Given the description of an element on the screen output the (x, y) to click on. 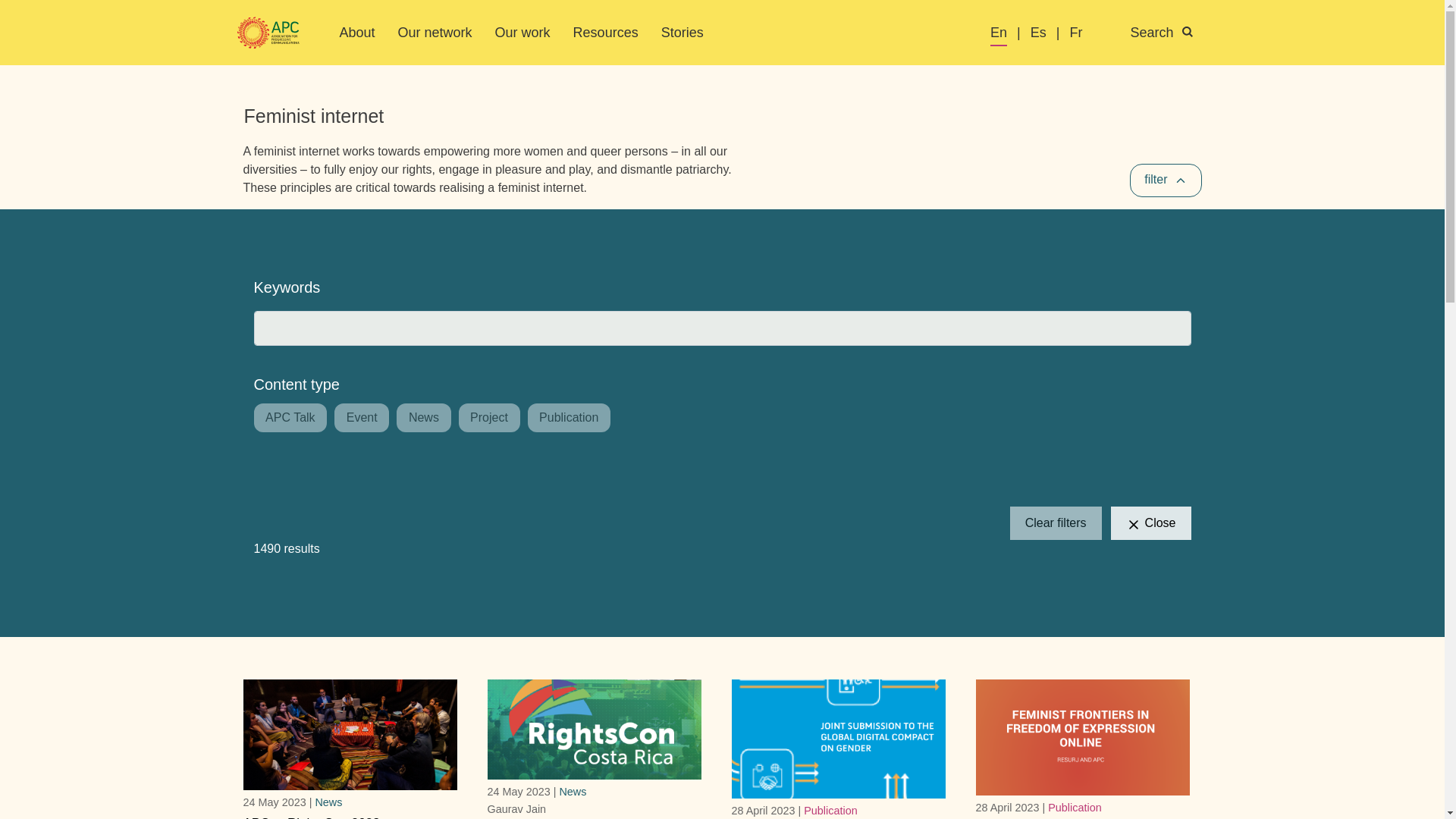
Association for Progressive Communications (267, 32)
Clear filters (1056, 522)
Apply (38, 17)
language switcher content (1101, 32)
Search (1170, 32)
filter (1165, 180)
Resources (606, 32)
News (572, 791)
Search keywords (722, 328)
News (328, 802)
